Given the description of an element on the screen output the (x, y) to click on. 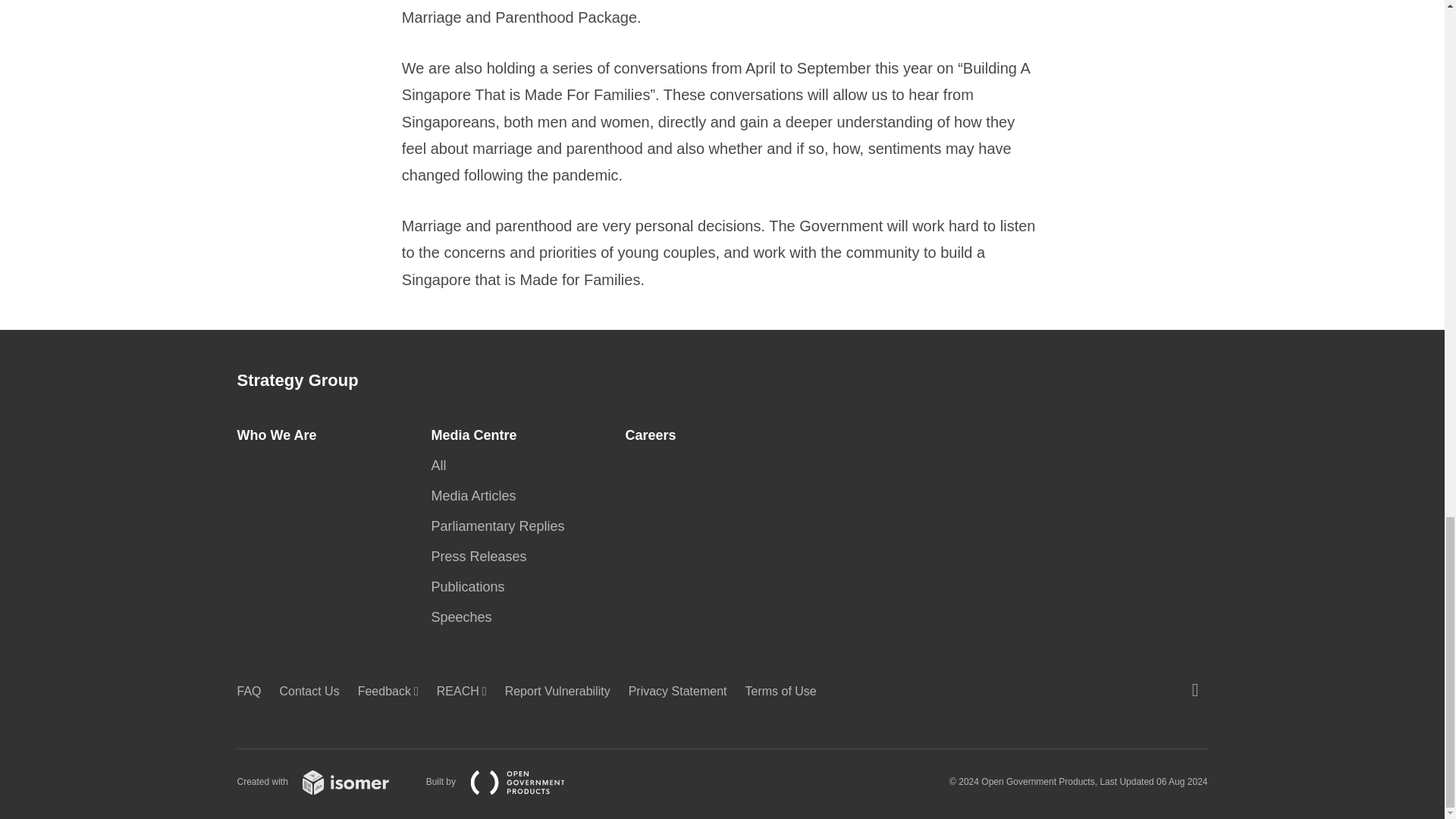
FAQ (252, 690)
Feedback (393, 690)
Link to reach.gov.sg (466, 690)
Press Releases (482, 556)
REACH (466, 690)
Who We Are (279, 435)
All (442, 465)
Publications (471, 586)
Careers (654, 435)
Media Centre (477, 435)
